Given the description of an element on the screen output the (x, y) to click on. 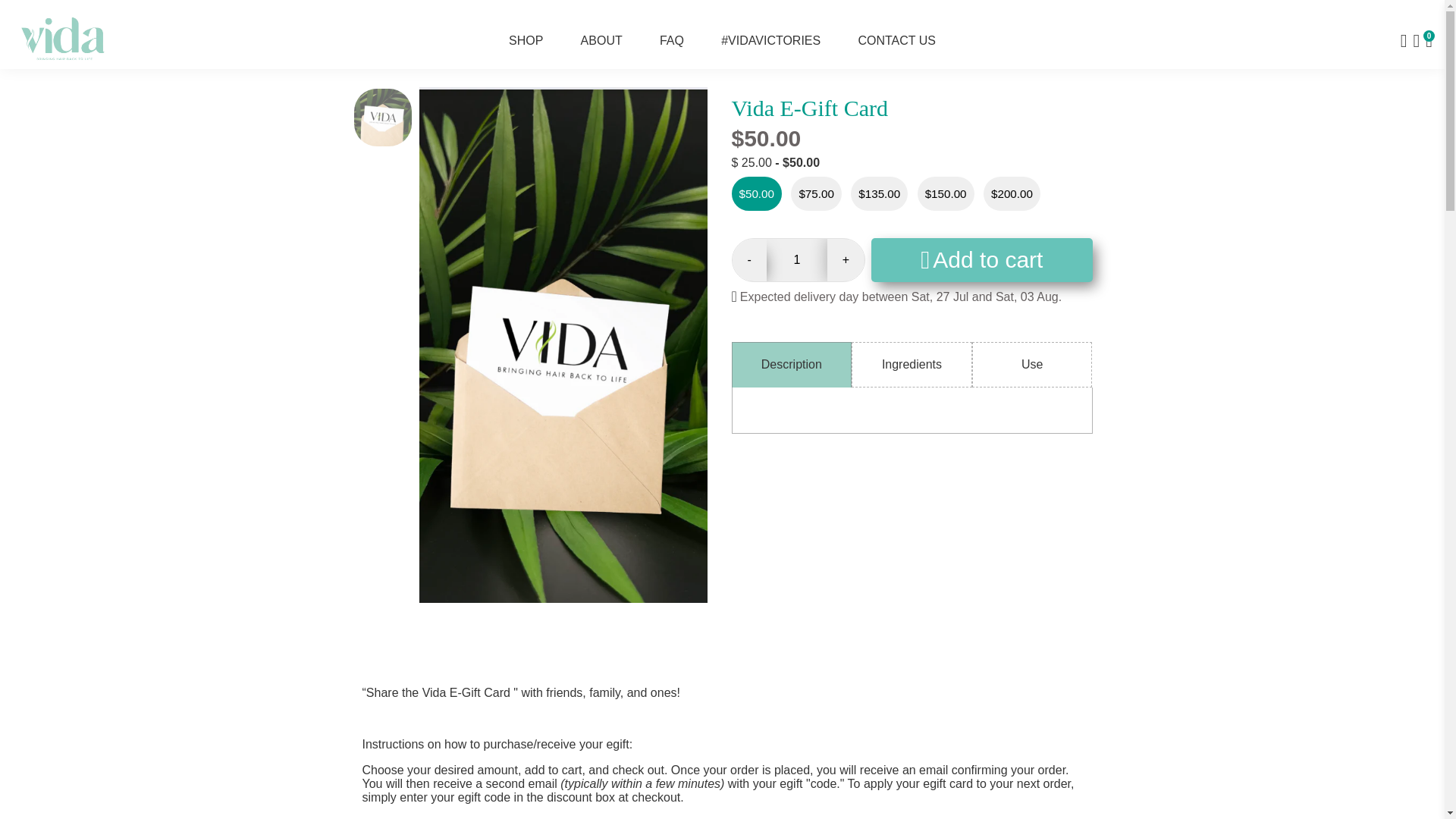
FAQ (671, 40)
ABOUT (601, 40)
SHOP (525, 40)
Add to cart (981, 259)
1 (797, 260)
CONTACT US (896, 40)
